Given the description of an element on the screen output the (x, y) to click on. 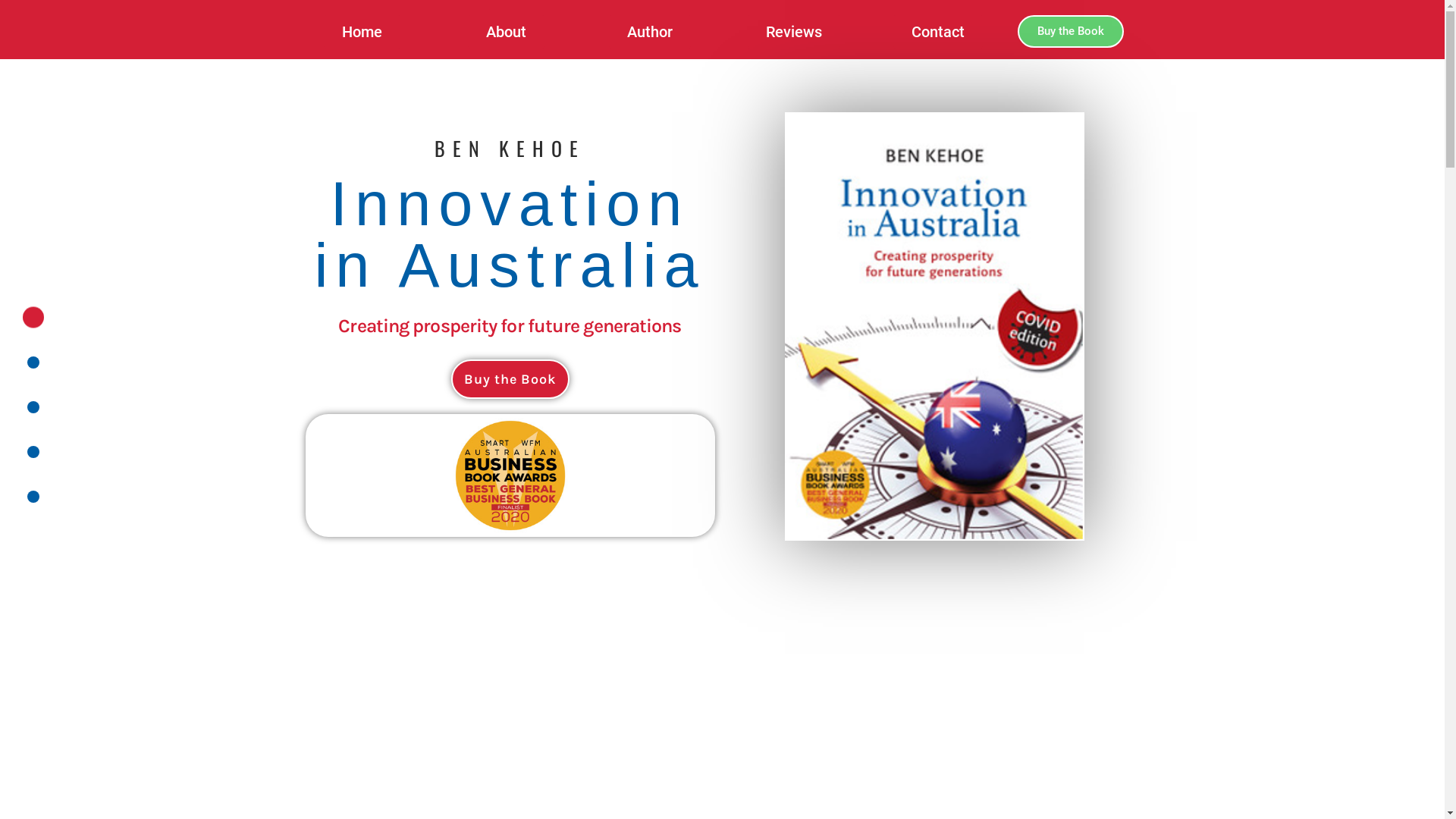
Buy the Book Element type: text (509, 379)
Reviews Element type: text (793, 31)
About Element type: text (505, 31)
Contact Element type: text (937, 31)
Author Element type: text (649, 31)
Buy the Book Element type: text (1070, 31)
Home Element type: text (361, 31)
